Given the description of an element on the screen output the (x, y) to click on. 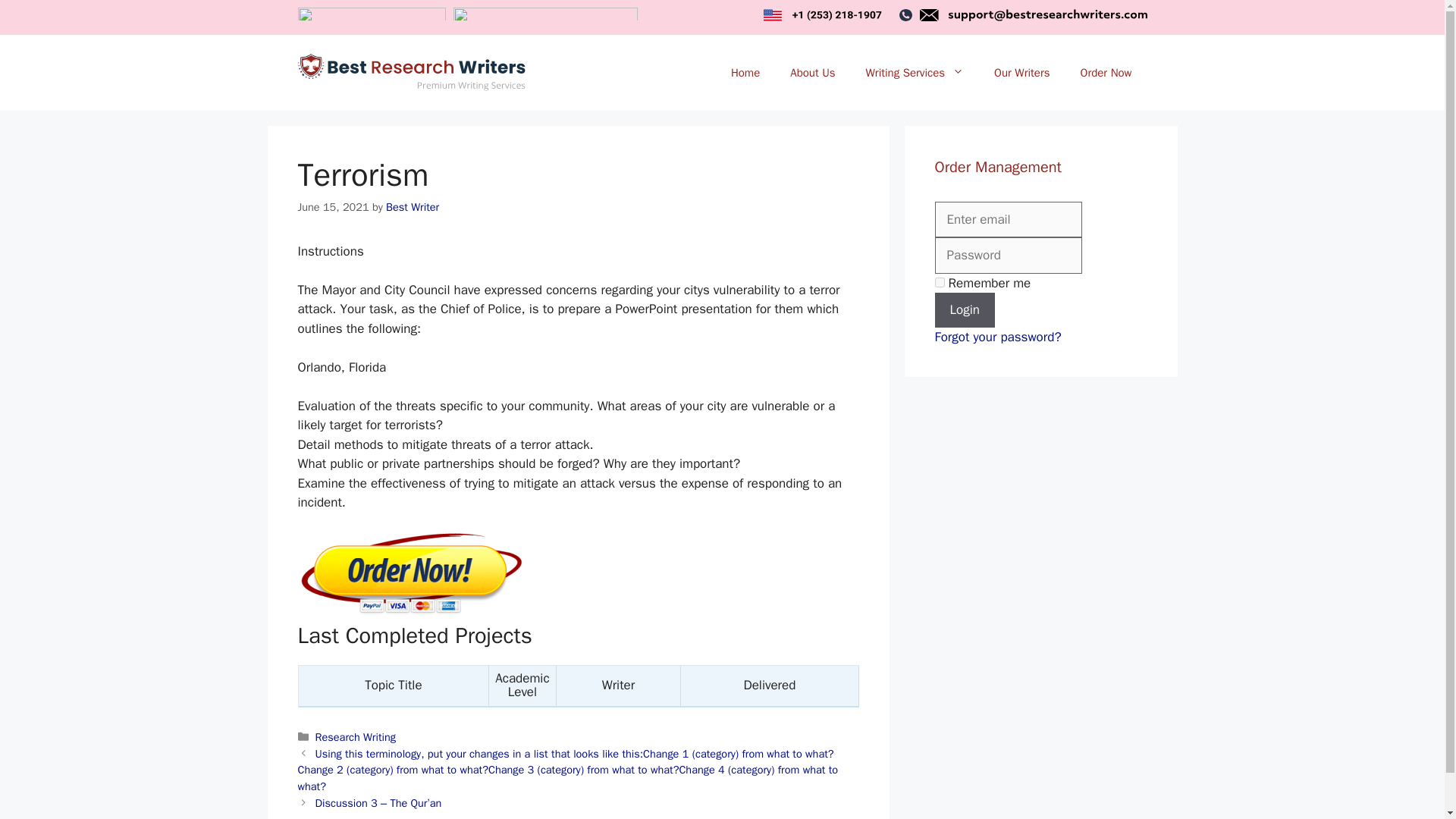
Forgot your password? (997, 336)
About Us (812, 72)
Writing Services (914, 72)
Recover password (997, 336)
Best Writer (412, 206)
Order Now (1105, 72)
Login (964, 309)
View all posts by Best Writer (412, 206)
click to Login (964, 309)
Home (745, 72)
Research Writing (355, 736)
on (938, 282)
Our Writers (1021, 72)
